Given the description of an element on the screen output the (x, y) to click on. 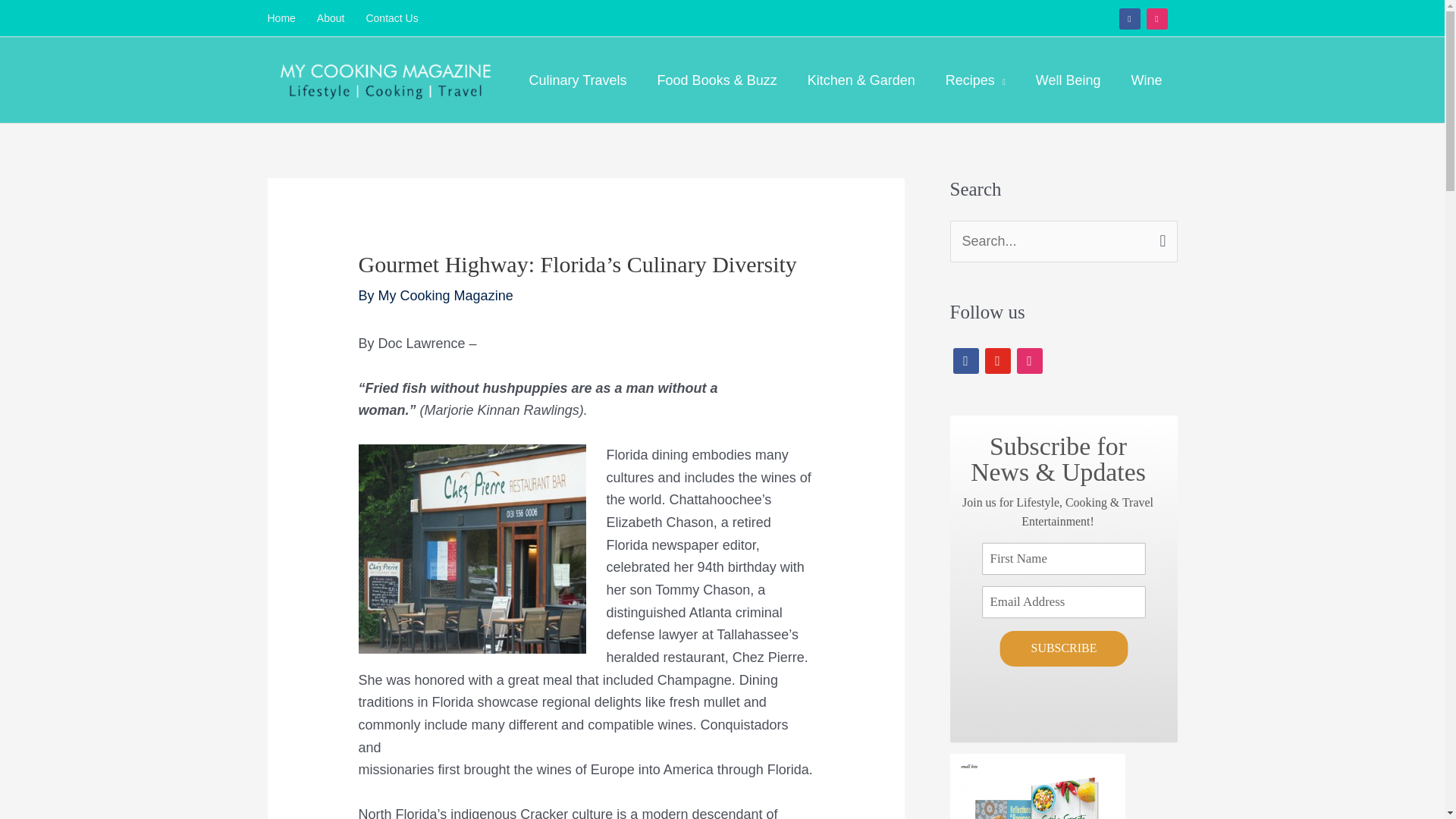
Facebook (1129, 17)
Instagram (997, 359)
Default Label (1029, 359)
Recipes (975, 80)
Facebook (965, 359)
instagram (1029, 359)
Well Being (1068, 80)
Instagram (1157, 17)
Culinary Travels (577, 80)
Contact Us (391, 18)
chez-pierre (472, 548)
facebook (1129, 17)
facebook (965, 359)
instagram (1157, 17)
Wine (1145, 80)
